Given the description of an element on the screen output the (x, y) to click on. 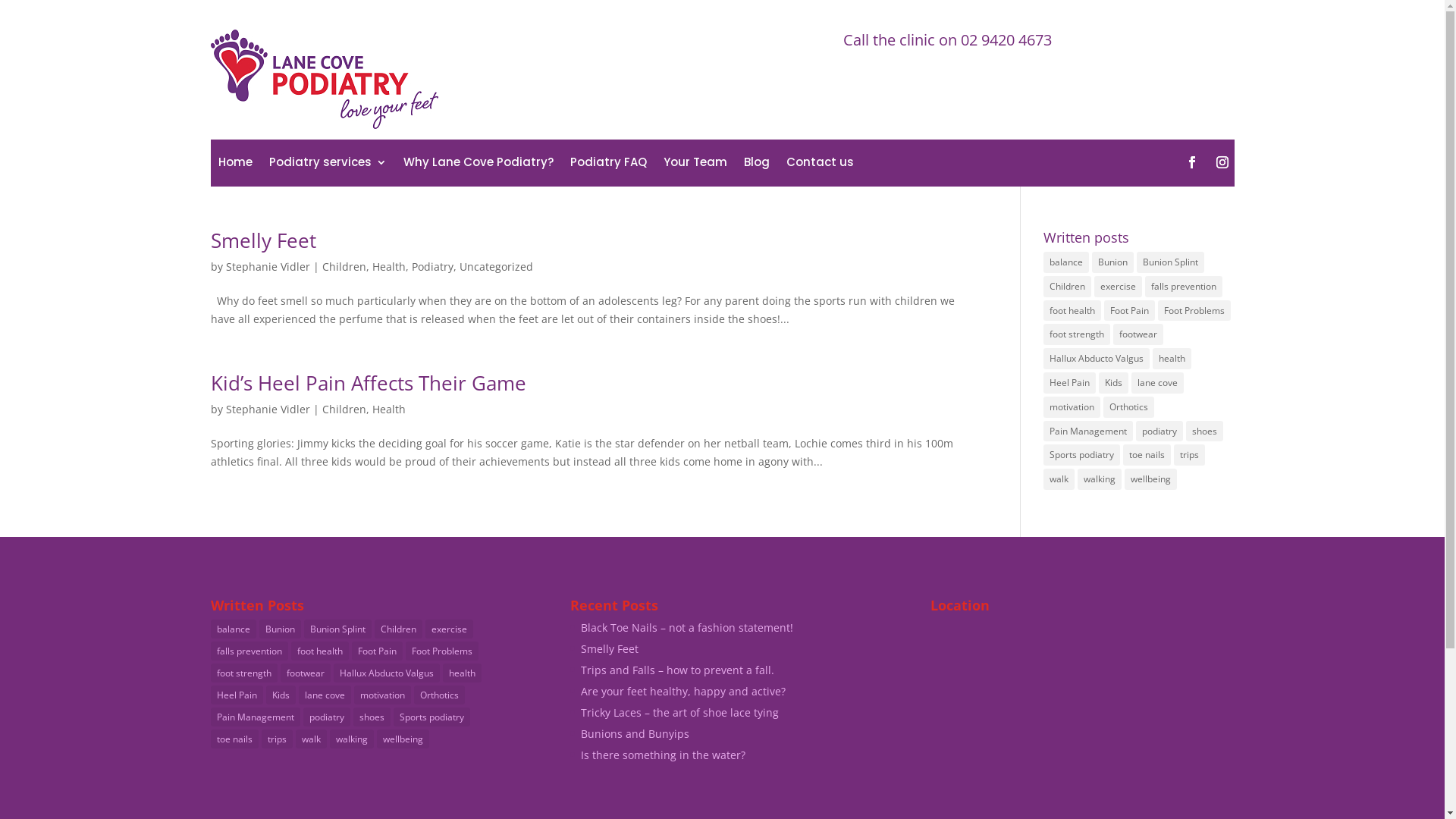
footwear Element type: text (305, 672)
balance Element type: text (1065, 262)
falls prevention Element type: text (249, 650)
motivation Element type: text (1071, 406)
Orthotics Element type: text (439, 694)
health Element type: text (1171, 358)
health Element type: text (461, 672)
Podiatrist logo2 Element type: hover (324, 78)
Bunion Element type: text (280, 628)
Hallux Abducto Valgus Element type: text (386, 672)
02 9420 4673 Element type: text (1005, 39)
exercise Element type: text (1118, 286)
Foot Problems Element type: text (440, 650)
walking Element type: text (351, 738)
Smelly Feet Element type: text (263, 240)
Children Element type: text (1067, 286)
Why Lane Cove Podiatry? Element type: text (478, 164)
Blog Element type: text (755, 164)
podiatry Element type: text (326, 716)
Foot Pain Element type: text (1129, 310)
Sports podiatry Element type: text (1081, 454)
Health Element type: text (387, 408)
Is there something in the water? Element type: text (662, 754)
Sports podiatry Element type: text (430, 716)
wellbeing Element type: text (402, 738)
Children Element type: text (343, 408)
Heel Pain Element type: text (1069, 382)
foot strength Element type: text (243, 672)
Pain Management Element type: text (255, 716)
Podiatry Element type: text (431, 266)
trips Element type: text (275, 738)
Bunions and Bunyips Element type: text (634, 733)
trips Element type: text (1188, 454)
Contact us Element type: text (819, 164)
Orthotics Element type: text (1128, 406)
Hallux Abducto Valgus Element type: text (1096, 358)
footwear Element type: text (1138, 334)
Bunion Splint Element type: text (336, 628)
podiatry Element type: text (1159, 431)
Children Element type: text (398, 628)
Bunion Element type: text (1112, 262)
Home Element type: text (235, 164)
falls prevention Element type: text (1183, 286)
Pain Management Element type: text (1087, 431)
Foot Problems Element type: text (1193, 310)
Health Element type: text (387, 266)
Heel Pain Element type: text (236, 694)
Kids Element type: text (279, 694)
walk Element type: text (310, 738)
toe nails Element type: text (234, 738)
shoes Element type: text (1204, 431)
Children Element type: text (343, 266)
Stephanie Vidler Element type: text (267, 266)
Podiatry services Element type: text (326, 164)
Foot Pain Element type: text (376, 650)
walking Element type: text (1099, 478)
foot health Element type: text (1072, 310)
Follow on Instagram Element type: hover (1222, 162)
foot strength Element type: text (1076, 334)
Smelly Feet Element type: text (609, 648)
lane cove Element type: text (1157, 382)
Your Team Element type: text (694, 164)
wellbeing Element type: text (1150, 478)
toe nails Element type: text (1146, 454)
Uncategorized Element type: text (496, 266)
Bunion Splint Element type: text (1170, 262)
Stephanie Vidler Element type: text (267, 408)
balance Element type: text (233, 628)
exercise Element type: text (448, 628)
shoes Element type: text (371, 716)
walk Element type: text (1058, 478)
Follow on Facebook Element type: hover (1191, 162)
Are your feet healthy, happy and active? Element type: text (682, 691)
Kids Element type: text (1113, 382)
foot health Element type: text (319, 650)
Podiatry FAQ Element type: text (608, 164)
motivation Element type: text (381, 694)
lane cove Element type: text (324, 694)
